Given the description of an element on the screen output the (x, y) to click on. 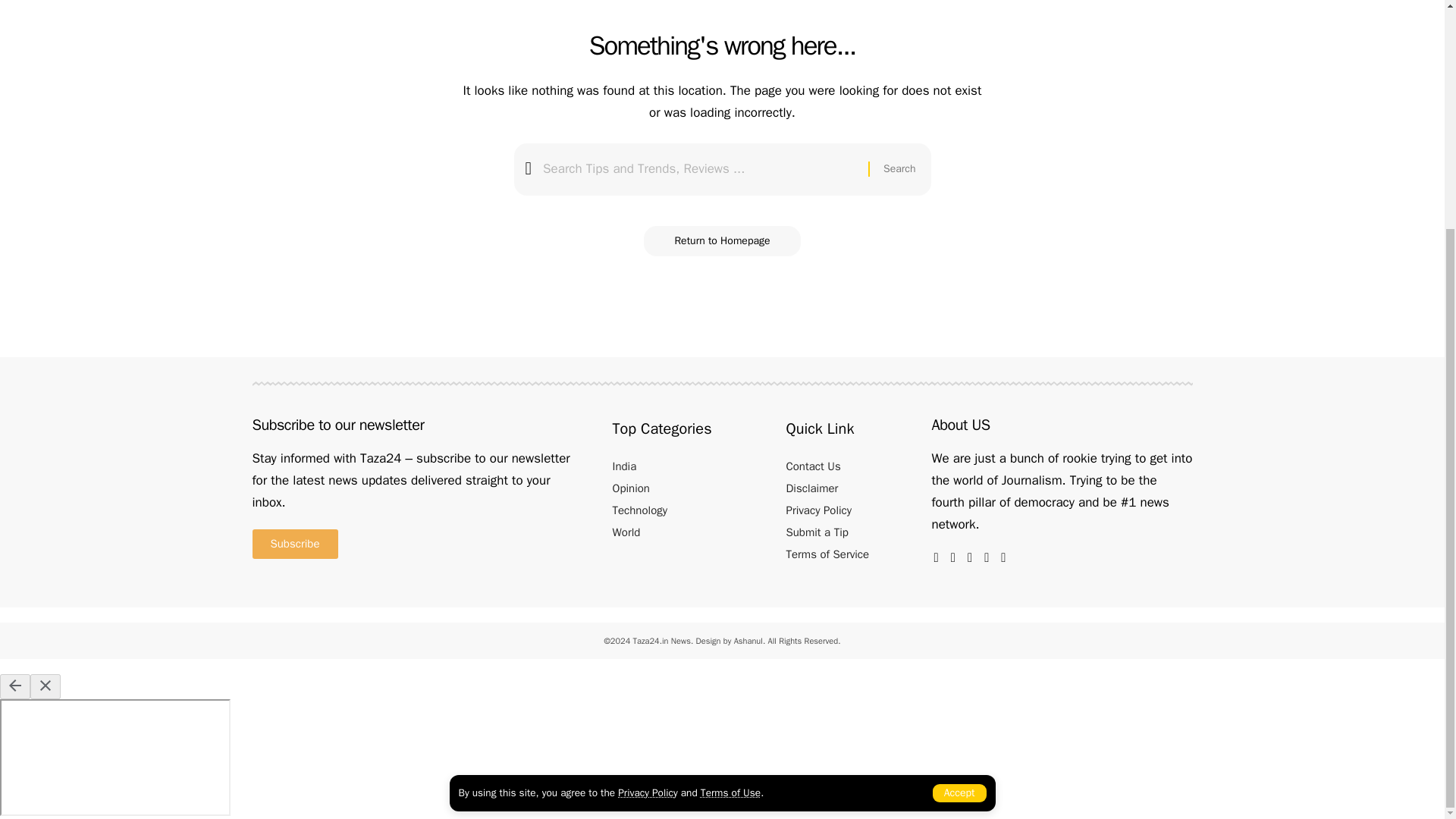
Privacy Policy (647, 483)
Accept (960, 484)
Search (899, 169)
Terms of Use (730, 483)
